Given the description of an element on the screen output the (x, y) to click on. 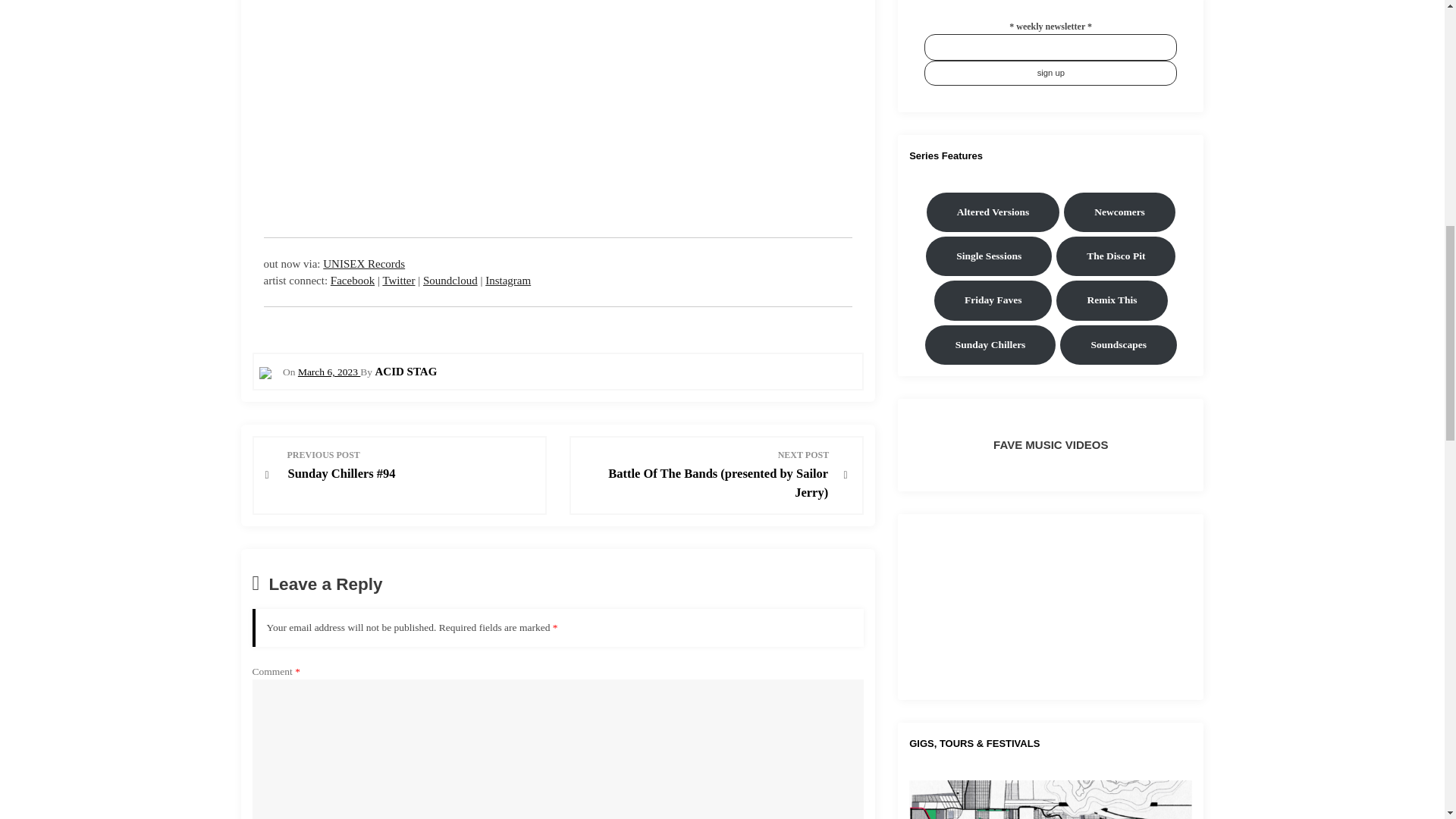
1tbsp Tour - poster (1050, 799)
ACID STAG (405, 371)
Twitter (397, 280)
Facebook (352, 280)
YouTube video player (1050, 604)
Instagram (507, 280)
sign up (1050, 72)
Soundcloud (450, 280)
March 6, 2023 (328, 371)
UNISEX Records (363, 263)
